Given the description of an element on the screen output the (x, y) to click on. 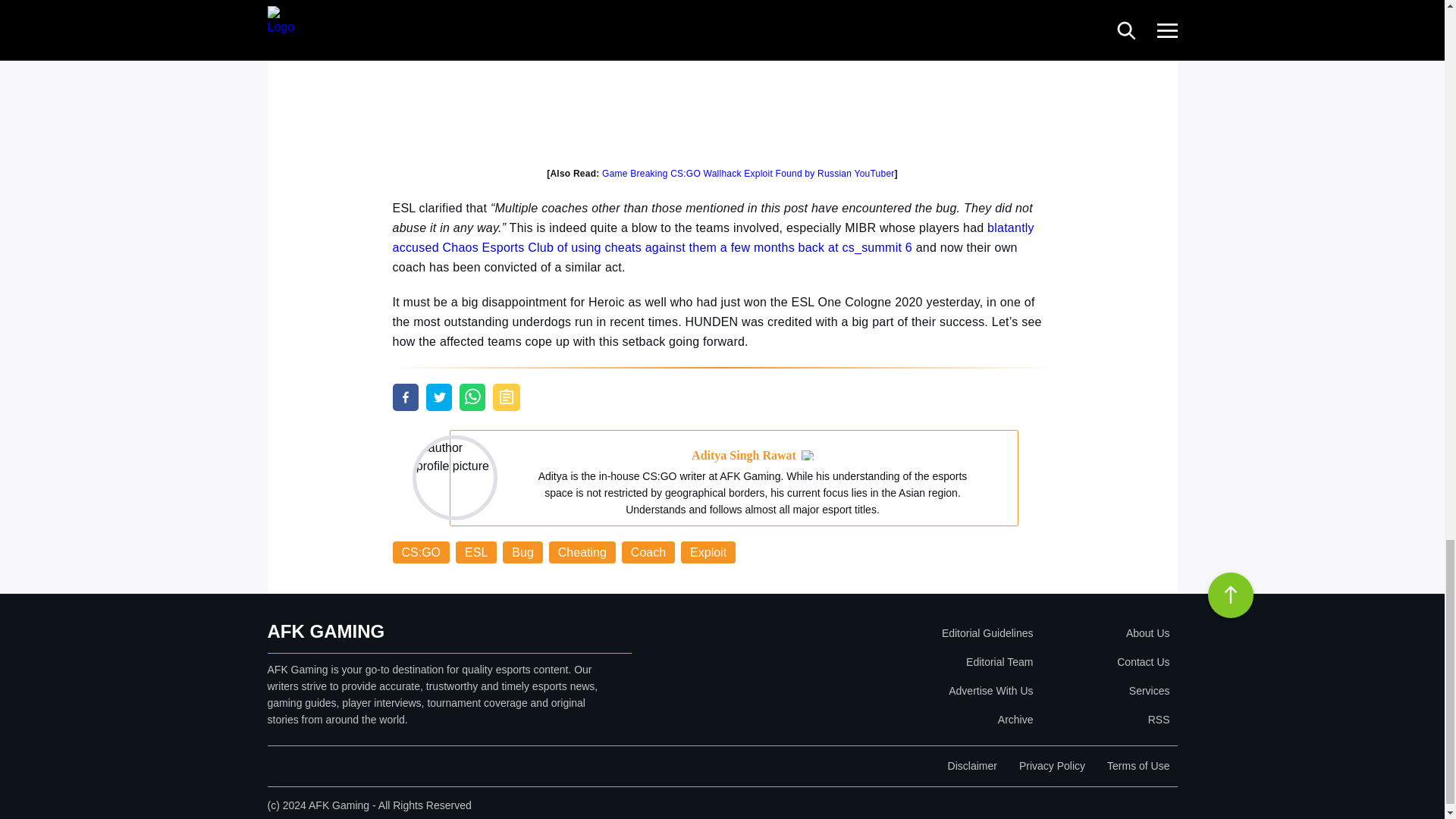
Coach (648, 552)
Editorial Team (899, 662)
Terms of Use (1137, 765)
Contact Us (1105, 662)
CS:GO (421, 552)
ESL (475, 552)
Bug (521, 552)
Advertise With Us (899, 690)
Exploit (708, 552)
Editorial Guidelines (899, 633)
Privacy Policy (1051, 765)
Services (1105, 690)
Disclaimer (972, 765)
